Given the description of an element on the screen output the (x, y) to click on. 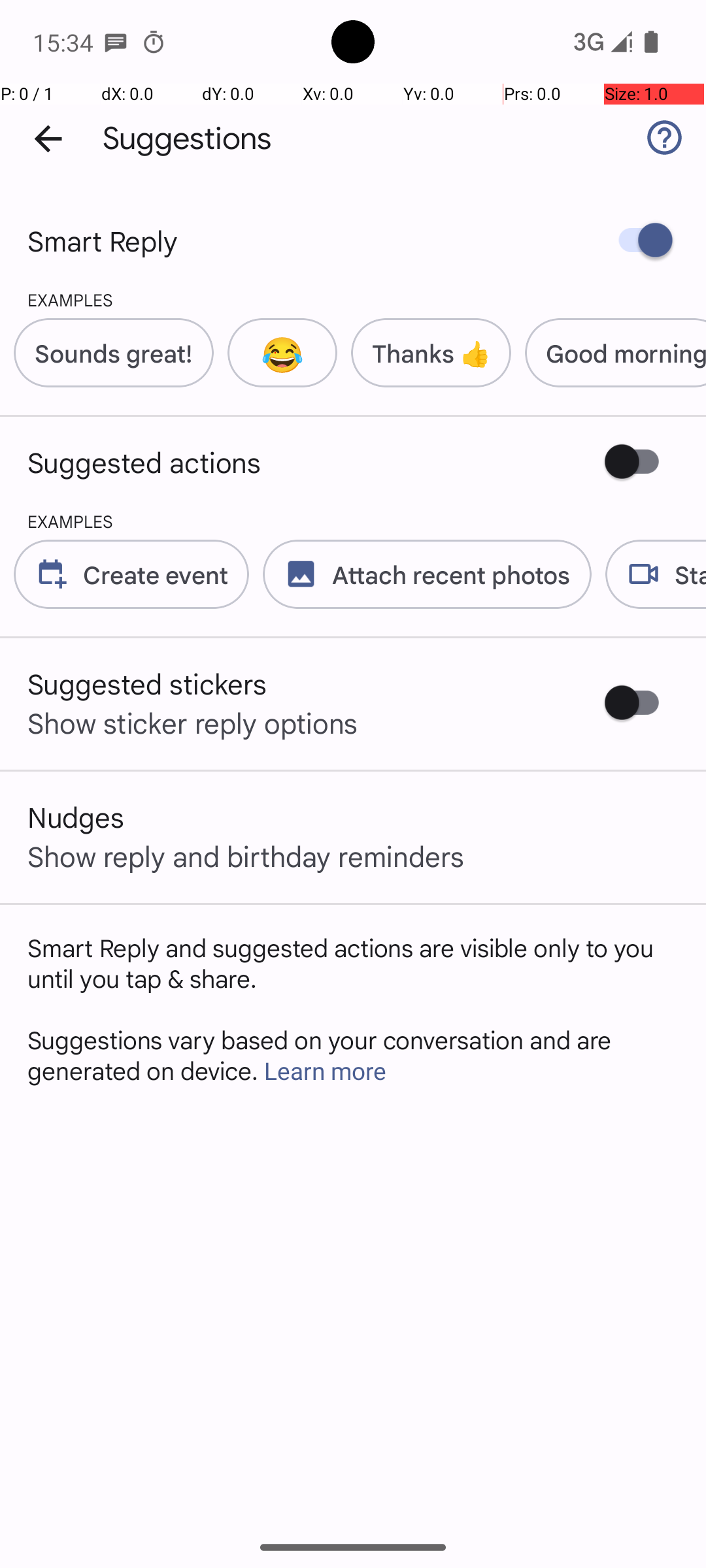
Smart Reply and suggested actions are visible only to you until you tap & share. 

Suggestions vary based on your conversation and are generated on device. Learn more Element type: android.widget.TextView (353, 1008)
Smart Reply Element type: android.widget.TextView (102, 240)
EXAMPLES Element type: android.widget.TextView (56, 299)
Suggested actions Element type: android.widget.TextView (143, 461)
Suggested stickers Element type: android.widget.TextView (147, 682)
Show sticker reply options Element type: android.widget.TextView (192, 722)
Nudges Element type: android.widget.TextView (75, 816)
Show reply and birthday reminders Element type: android.widget.TextView (245, 855)
Suggested reply: Sounds great! Element type: android.widget.FrameLayout (106, 352)
Suggested reply: 😂 Element type: android.widget.FrameLayout (275, 352)
Suggested reply: Thanks 👍 Element type: android.widget.FrameLayout (424, 352)
Suggested reply: Good morning Element type: android.widget.FrameLayout (608, 352)
Suggested calendar action: Create event Element type: android.widget.FrameLayout (124, 574)
Attach recent photos Element type: android.widget.FrameLayout (420, 574)
Start video call Element type: android.widget.FrameLayout (648, 574)
Sounds great! Element type: android.widget.TextView (113, 352)
😂 Element type: android.widget.TextView (281, 352)
Thanks 👍 Element type: android.widget.TextView (430, 352)
Good morning Element type: android.widget.TextView (625, 352)
Action icon Element type: android.widget.ImageView (51, 573)
Create event Element type: android.widget.TextView (155, 573)
